Given the description of an element on the screen output the (x, y) to click on. 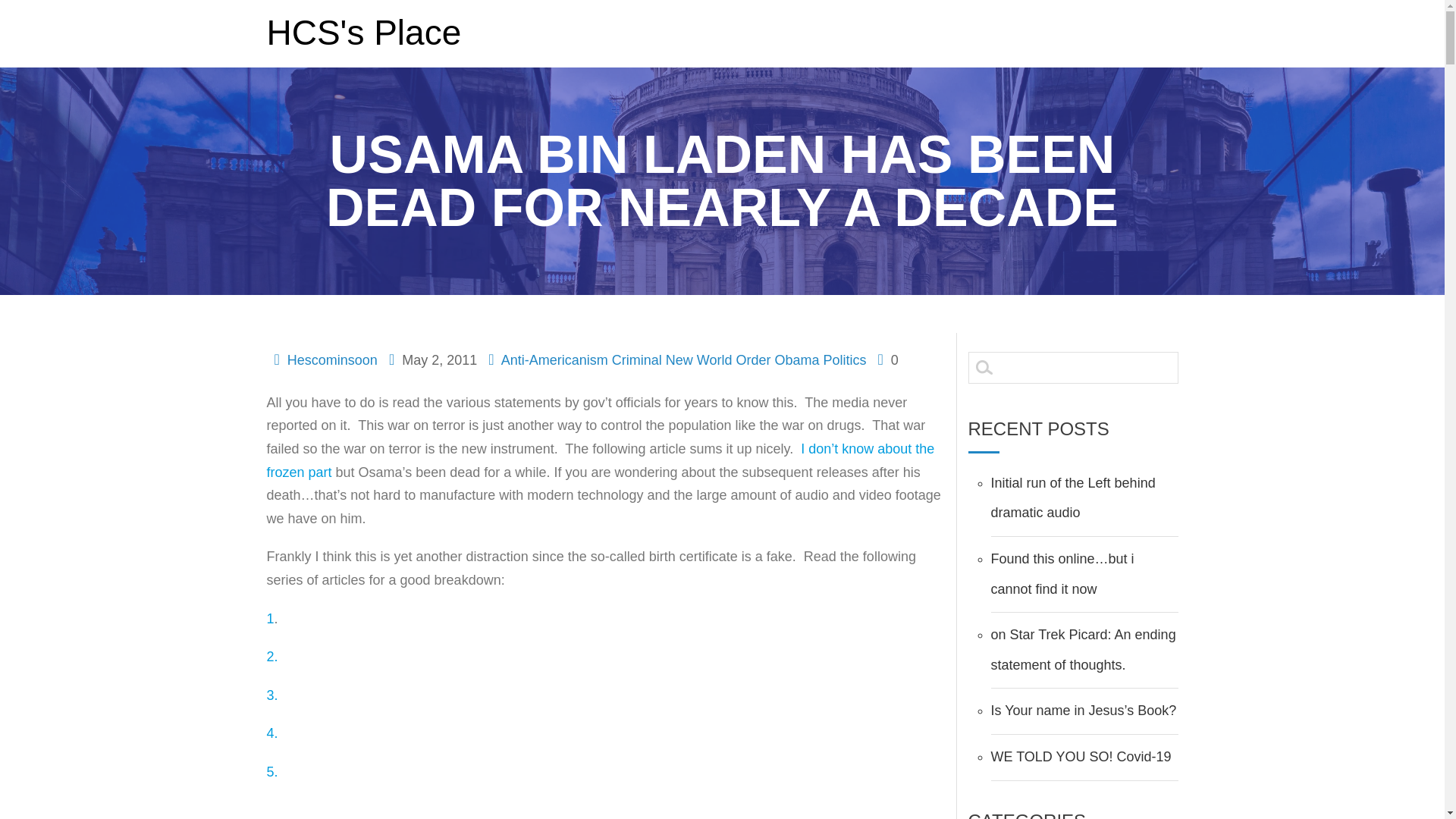
Anti-Americanism (554, 359)
New World Order (718, 359)
WE TOLD YOU SO! Covid-19 (1080, 756)
on Star Trek Picard: An ending statement of thoughts. (1082, 649)
Obama (796, 359)
HCS's Place (363, 32)
Criminal (636, 359)
Search (21, 7)
Hescominsoon (331, 359)
Posts by Hescominsoon (331, 359)
Initial run of the Left behind dramatic audio (1072, 497)
Politics (844, 359)
